Given the description of an element on the screen output the (x, y) to click on. 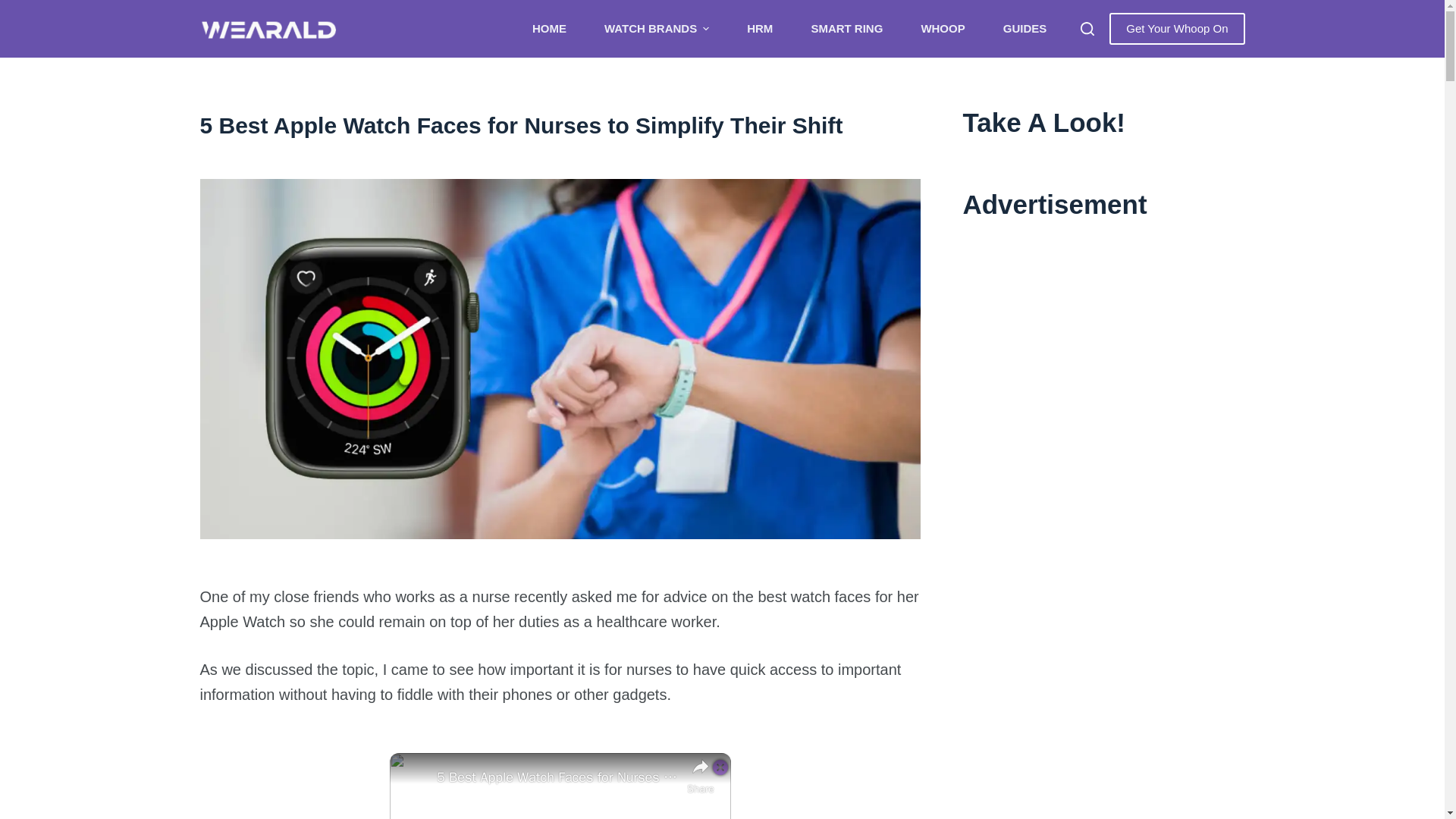
GUIDES (1024, 28)
SMART RING (846, 28)
WHOOP (942, 28)
Skip to content (15, 7)
WATCH BRANDS (656, 28)
HOME (549, 28)
5 Best Apple Watch Faces for Nurses to Simplify Their Shift (560, 125)
HRM (760, 28)
Get Your Whoop On (1176, 29)
